Given the description of an element on the screen output the (x, y) to click on. 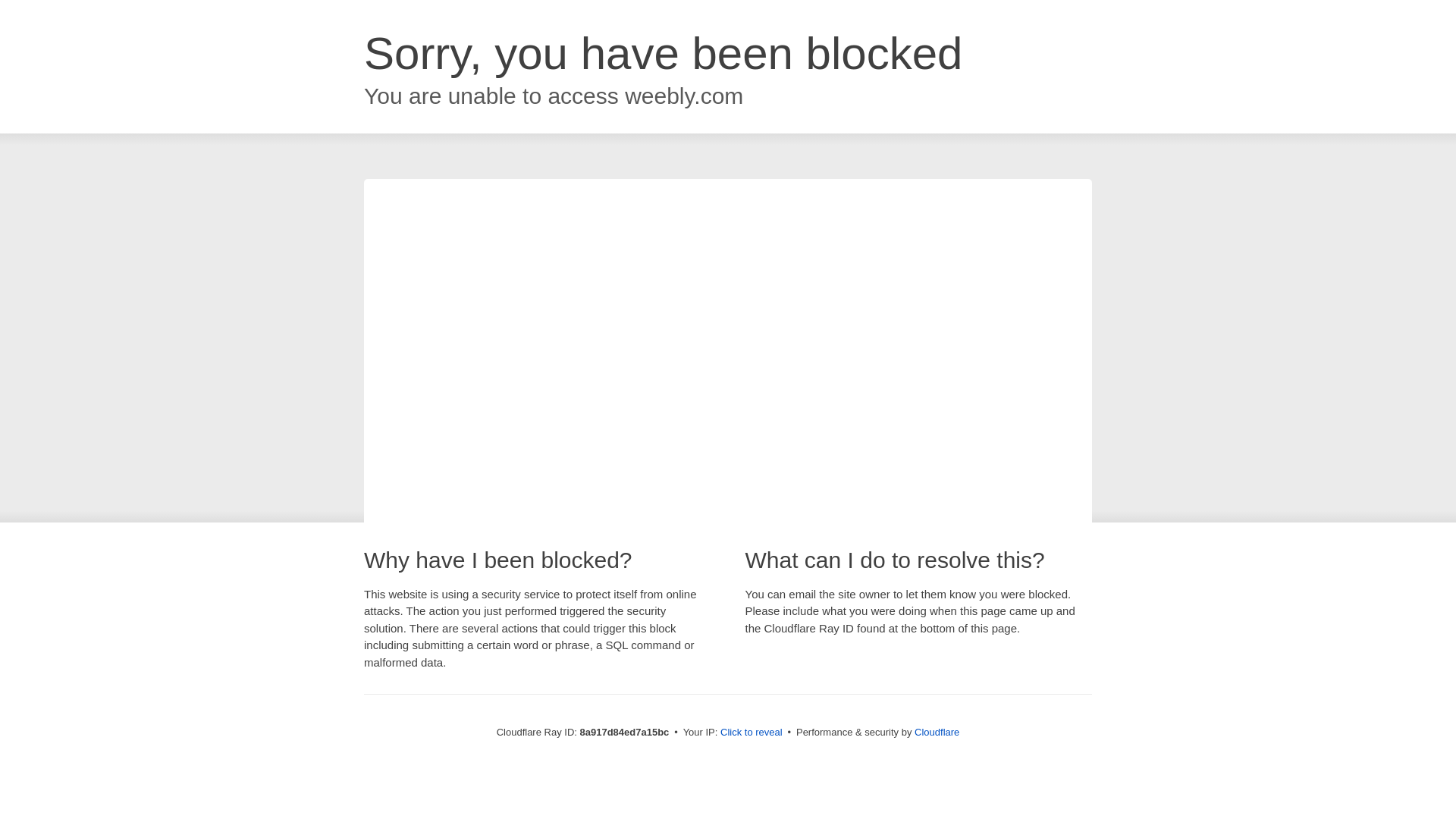
Click to reveal (751, 732)
Cloudflare (936, 731)
